Given the description of an element on the screen output the (x, y) to click on. 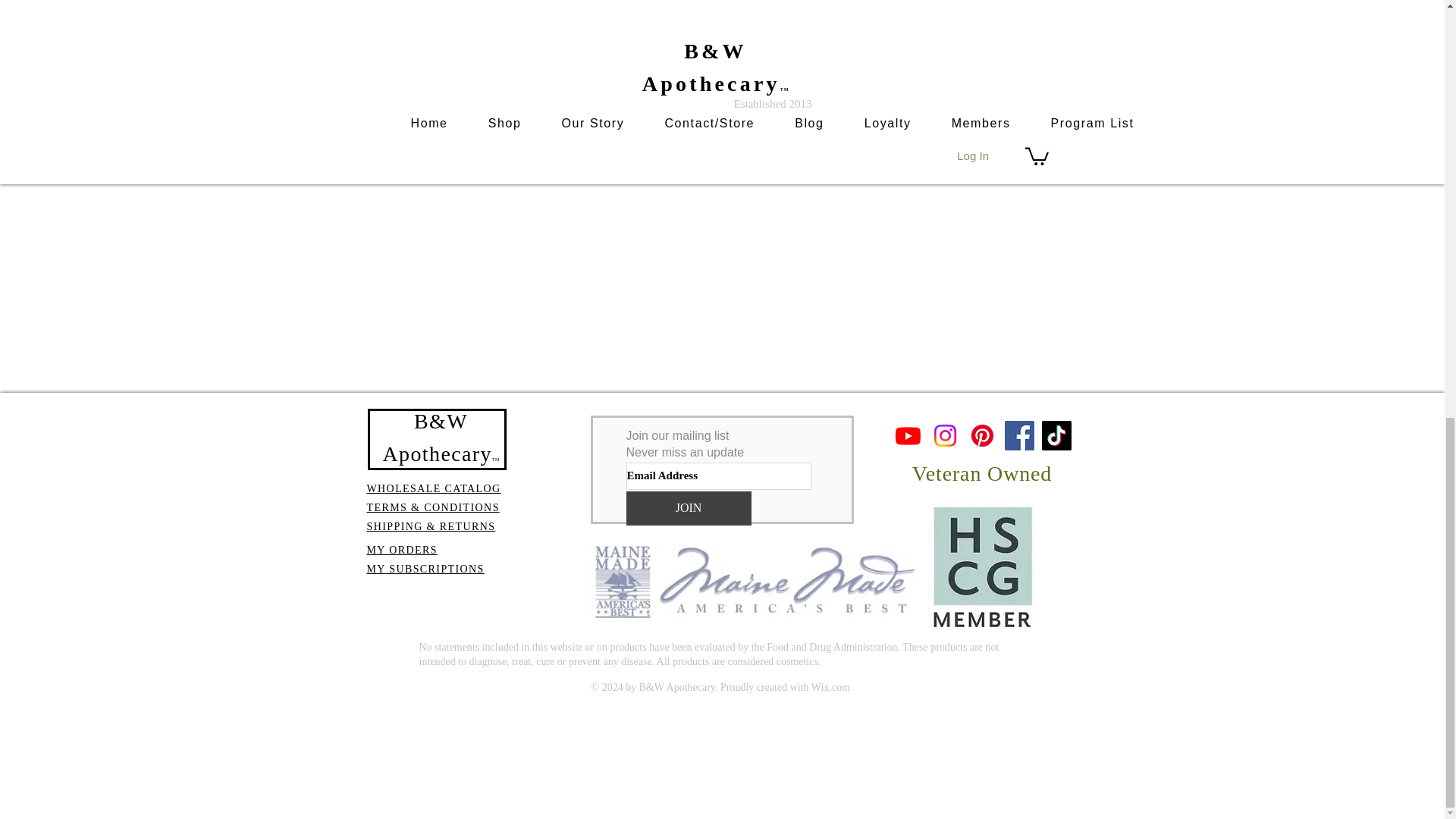
JOIN (688, 508)
MY SUBSCRIPTIONS (425, 568)
MY ORDERS (402, 550)
Wix.com (830, 686)
WHOLESALE CATALOG (433, 488)
